Given the description of an element on the screen output the (x, y) to click on. 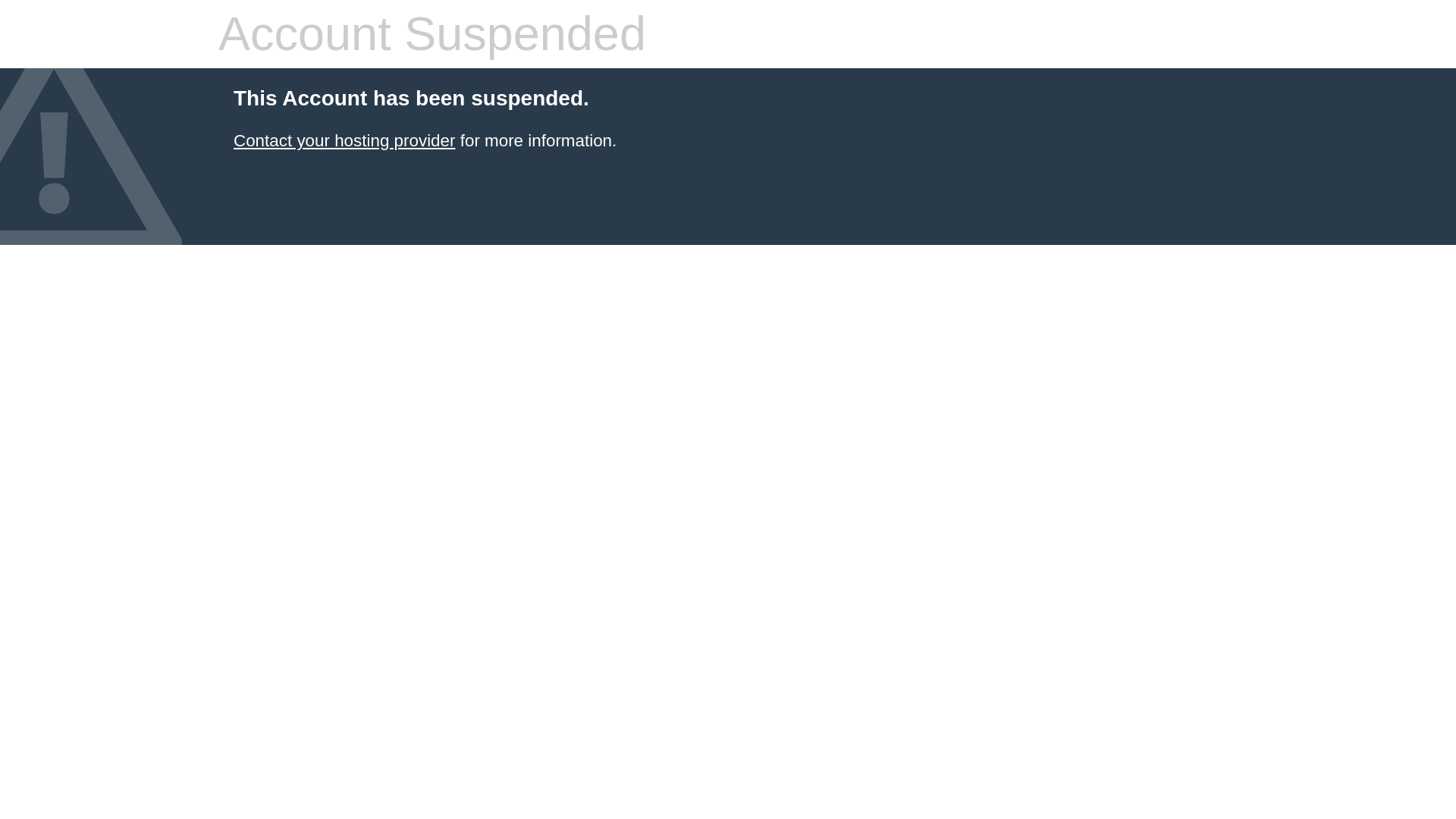
Contact your hosting provider (343, 140)
